Given the description of an element on the screen output the (x, y) to click on. 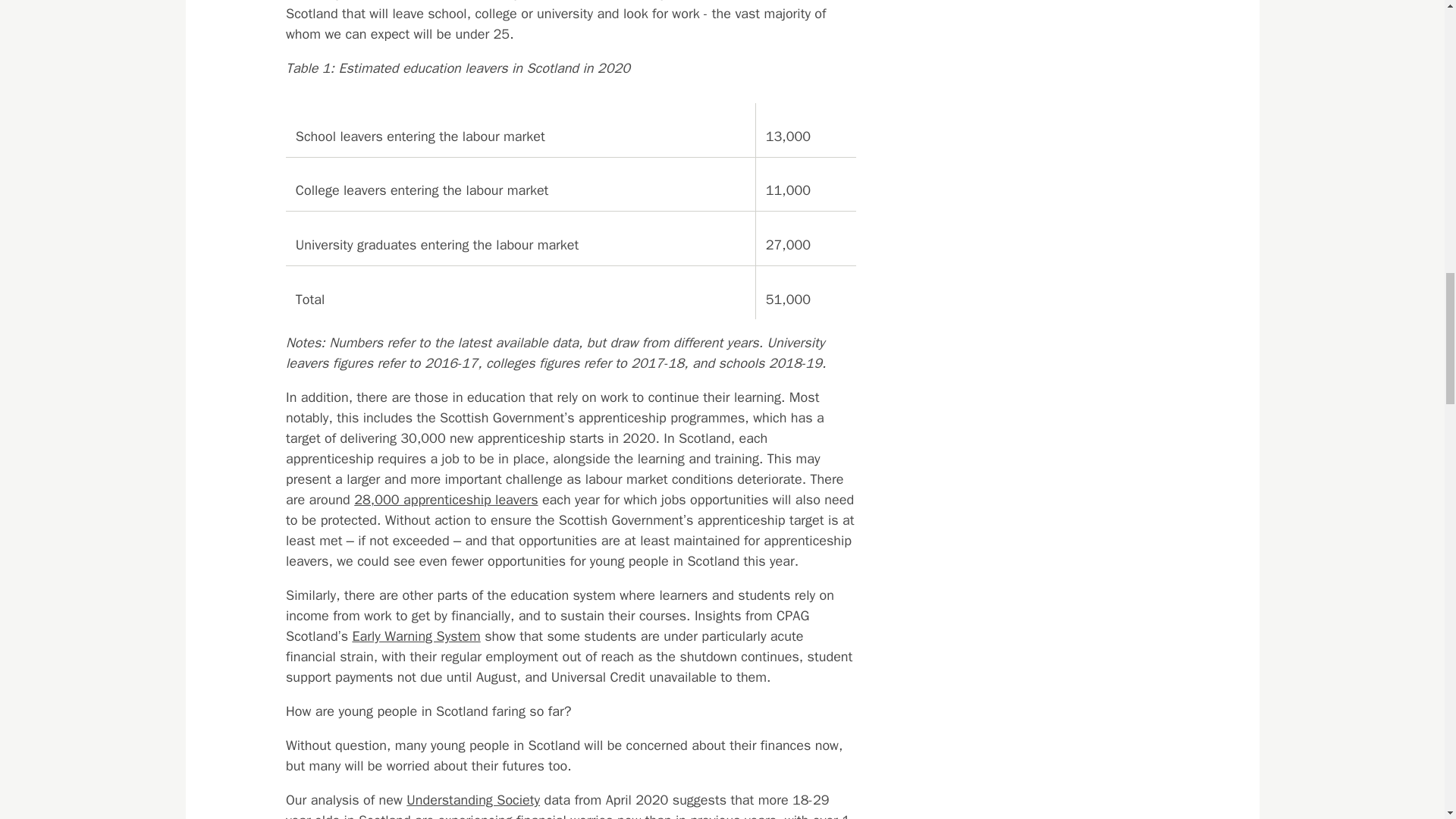
Early Warning System (416, 636)
28,000 apprenticeship leavers (445, 499)
Understanding Society (473, 799)
